Given the description of an element on the screen output the (x, y) to click on. 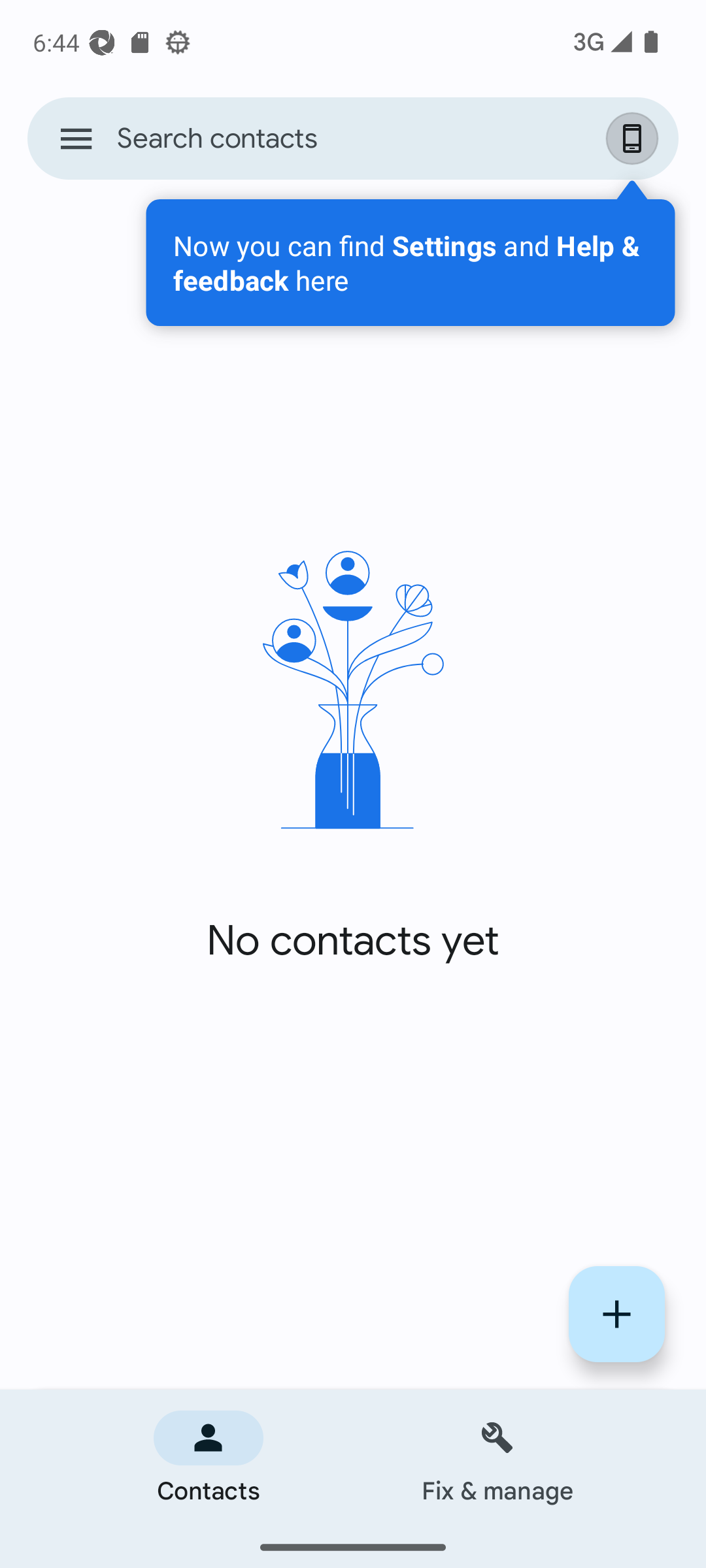
Open navigation drawer (75, 138)
Signed in as Device
Account and settings. (634, 138)
Create contact (617, 1314)
Fix & manage (497, 1458)
